Given the description of an element on the screen output the (x, y) to click on. 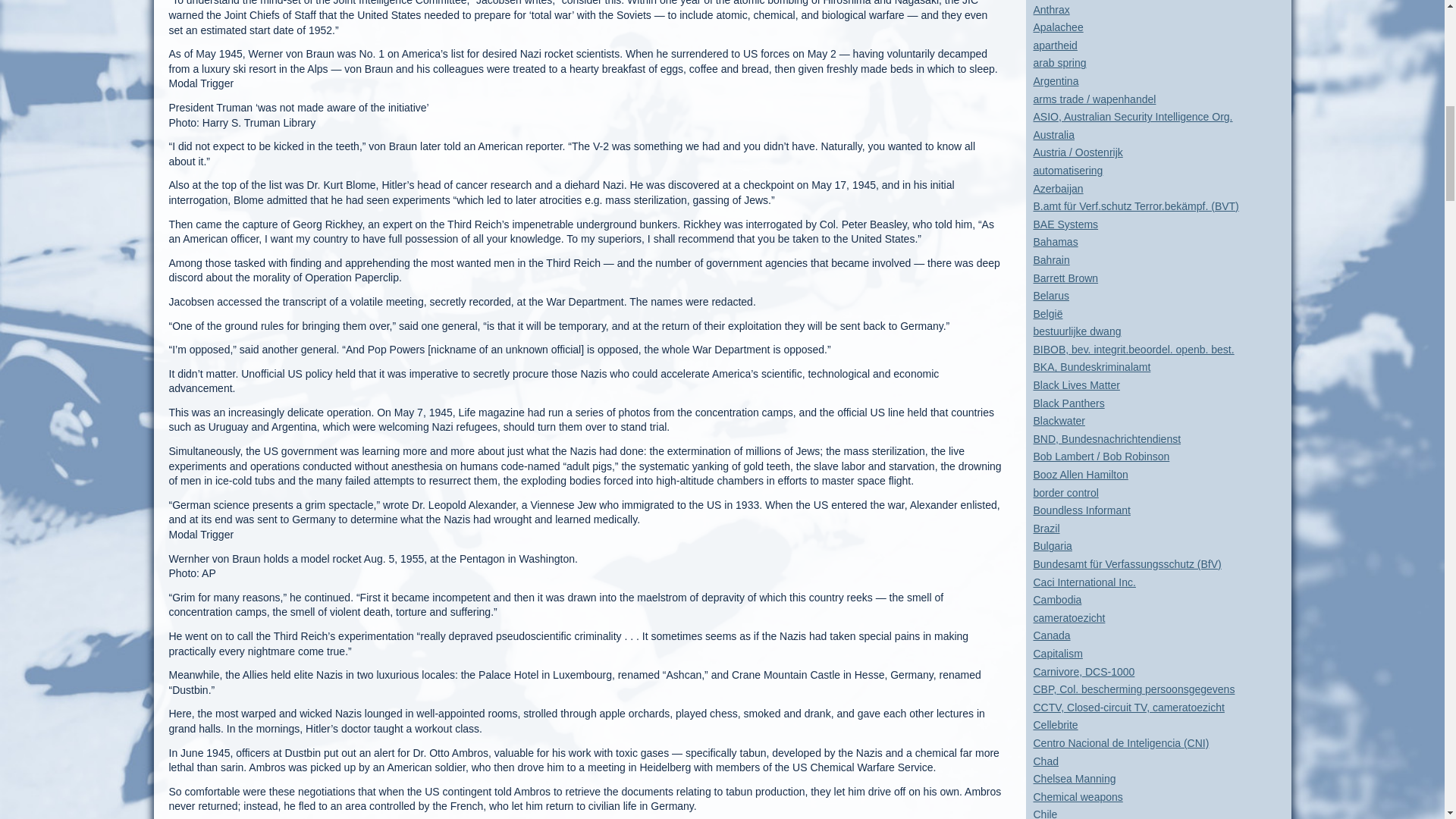
automatisering (1067, 170)
Anthrax (1050, 9)
Belarus (1050, 295)
Bahrain (1050, 259)
Argentina (1055, 80)
Apalachee (1057, 27)
BAE Systems (1064, 224)
Barrett Brown (1064, 277)
arab spring (1059, 62)
ASIO, Australian Security Intelligence Org. (1131, 116)
apartheid (1054, 45)
Bahamas (1054, 241)
Azerbaijan (1057, 188)
Australia (1053, 134)
